Given the description of an element on the screen output the (x, y) to click on. 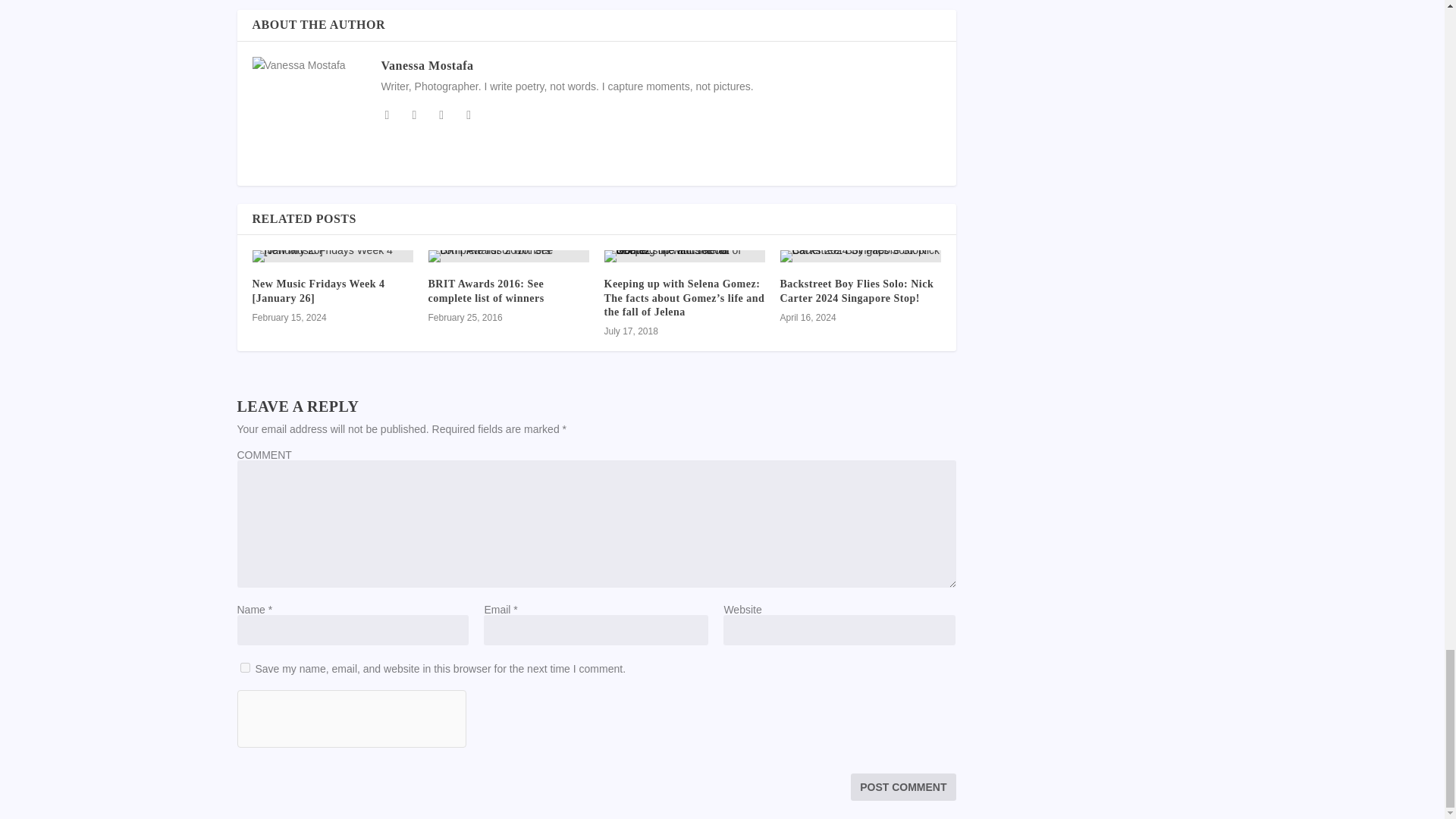
Post Comment (902, 786)
yes (244, 667)
